Given the description of an element on the screen output the (x, y) to click on. 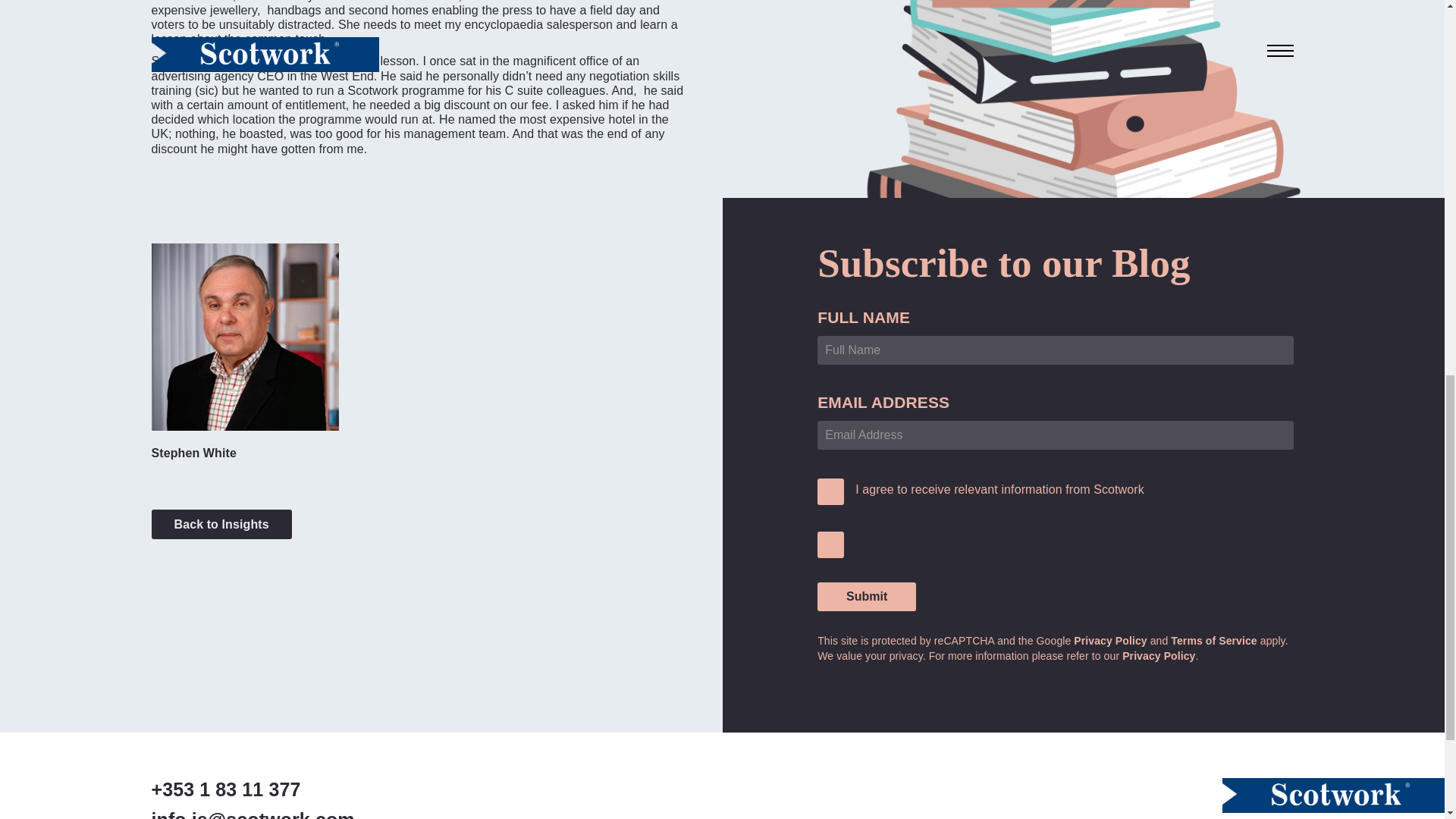
Scotwork privacy policy (1158, 655)
Privacy Policy (1158, 655)
Terms of Service (1213, 640)
Privacy Policy (1110, 640)
Google Terms (1213, 640)
Submit (865, 596)
Back to Insights (221, 523)
Google Privacy Policy (1110, 640)
